Given the description of an element on the screen output the (x, y) to click on. 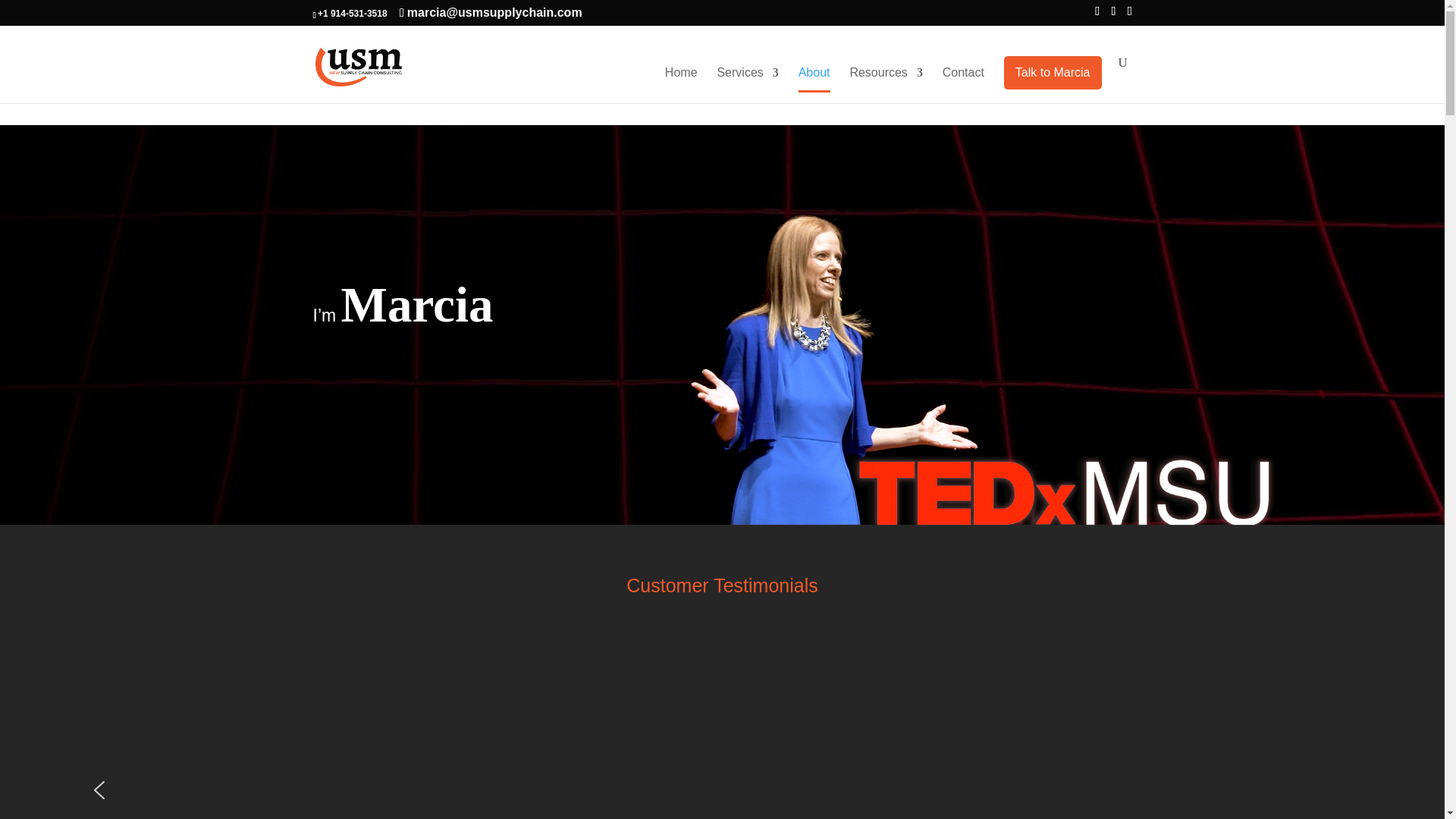
About (813, 85)
Resources (884, 85)
Services (746, 85)
Home (681, 85)
marcia-speaking-with-TDx-logo-2 (923, 319)
Talk to Marcia (1053, 72)
Contact (963, 85)
